Given the description of an element on the screen output the (x, y) to click on. 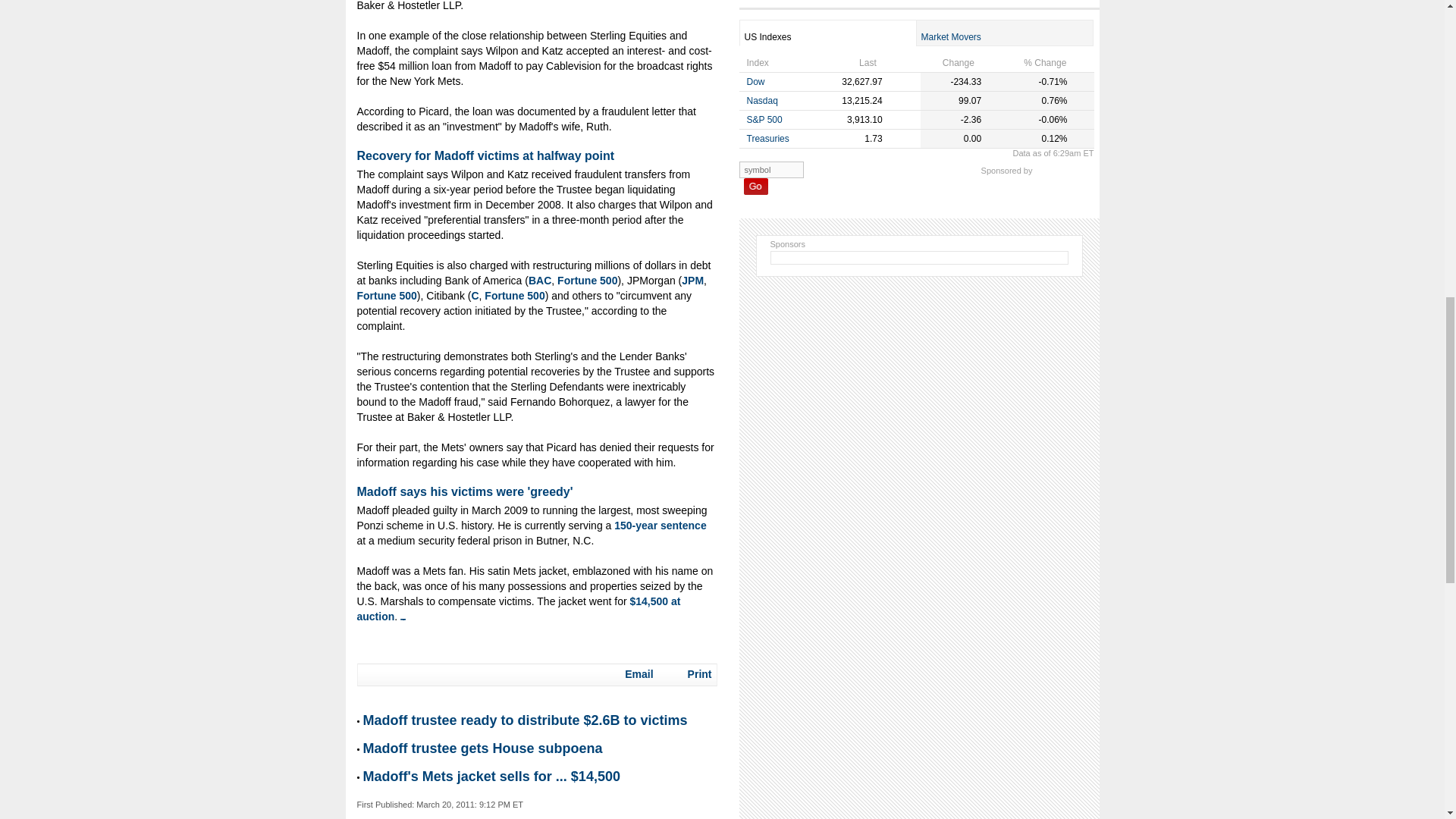
symbol (770, 169)
